Given the description of an element on the screen output the (x, y) to click on. 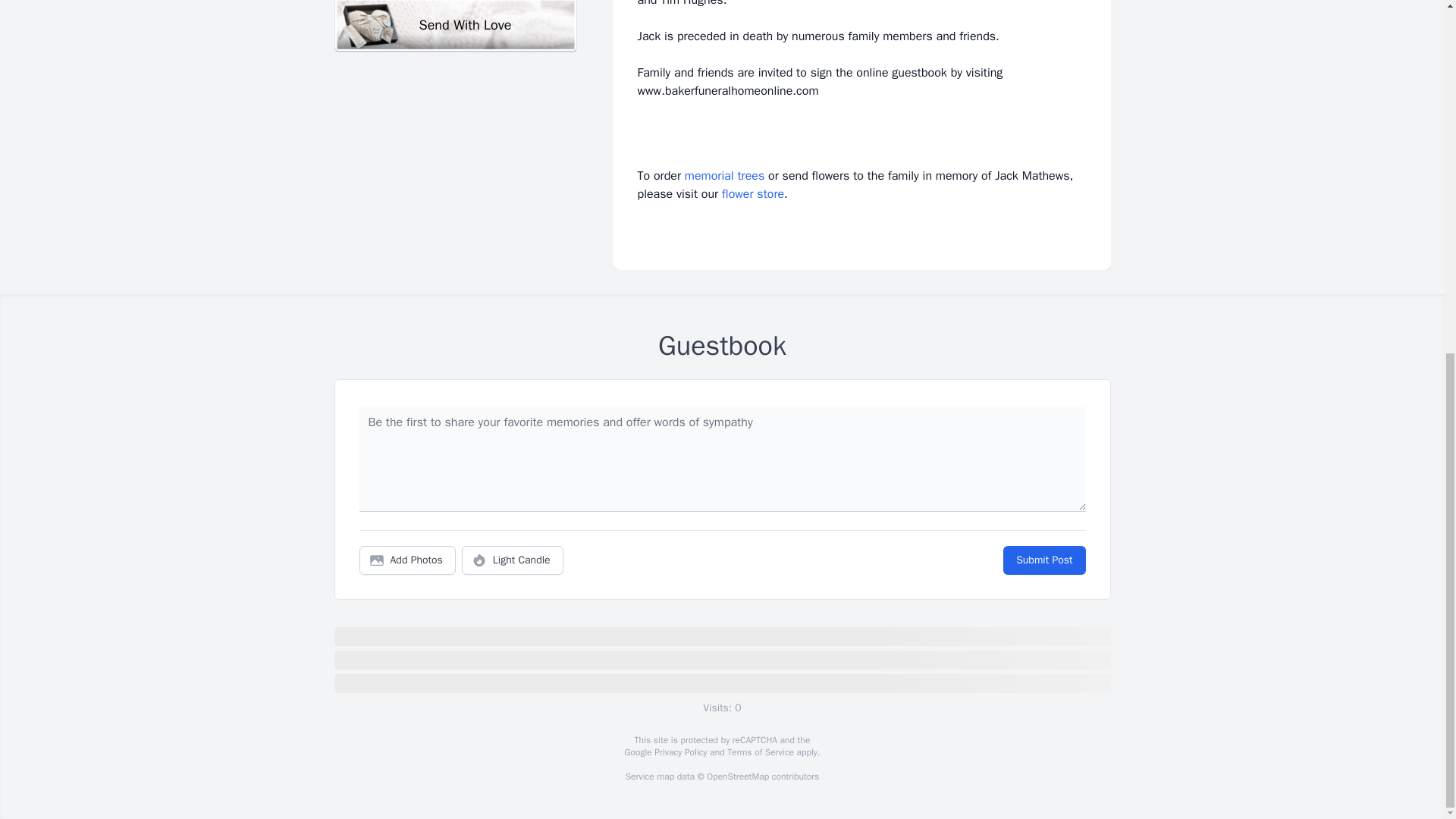
Send With Love (454, 26)
Privacy Policy (679, 752)
Submit Post (1043, 560)
Add Photos (407, 560)
OpenStreetMap (737, 776)
Light Candle (512, 560)
flower store (753, 193)
memorial trees (724, 175)
Terms of Service (759, 752)
